Given the description of an element on the screen output the (x, y) to click on. 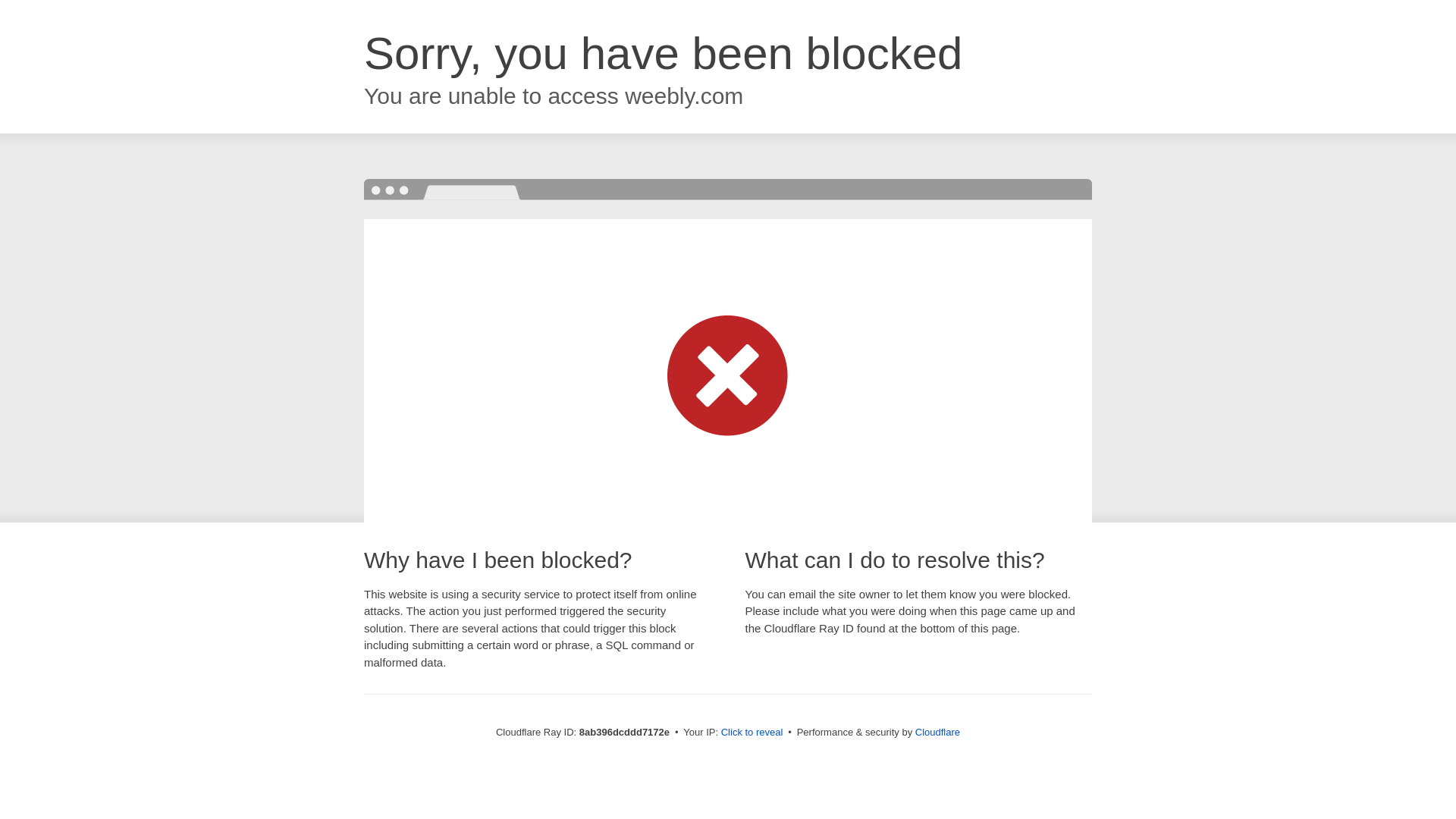
Cloudflare (937, 731)
Click to reveal (751, 732)
